Given the description of an element on the screen output the (x, y) to click on. 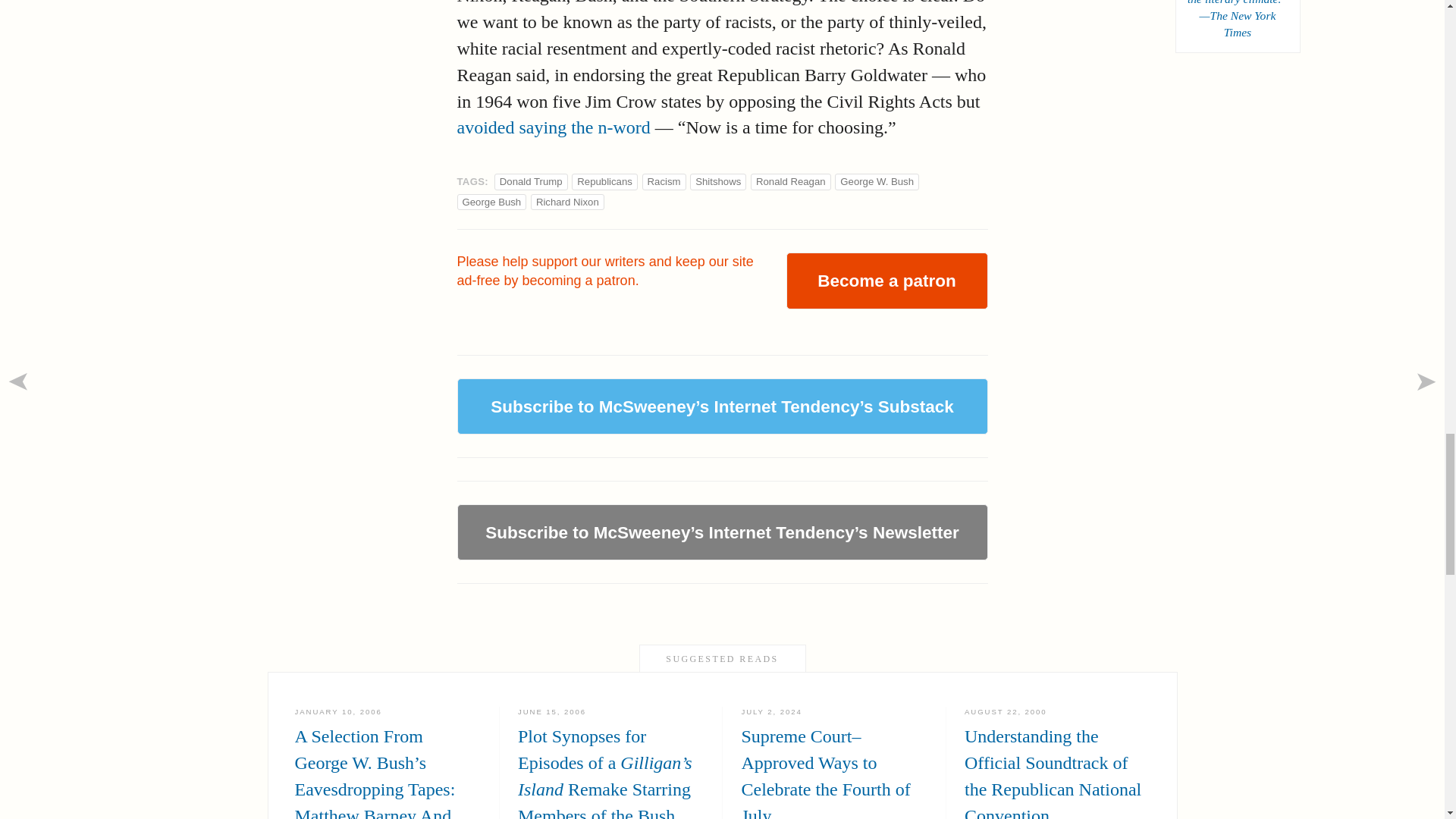
Republicans (603, 181)
Shitshows (718, 181)
Donald Trump (530, 181)
avoided saying the n-word (553, 127)
Racism (664, 181)
